Given the description of an element on the screen output the (x, y) to click on. 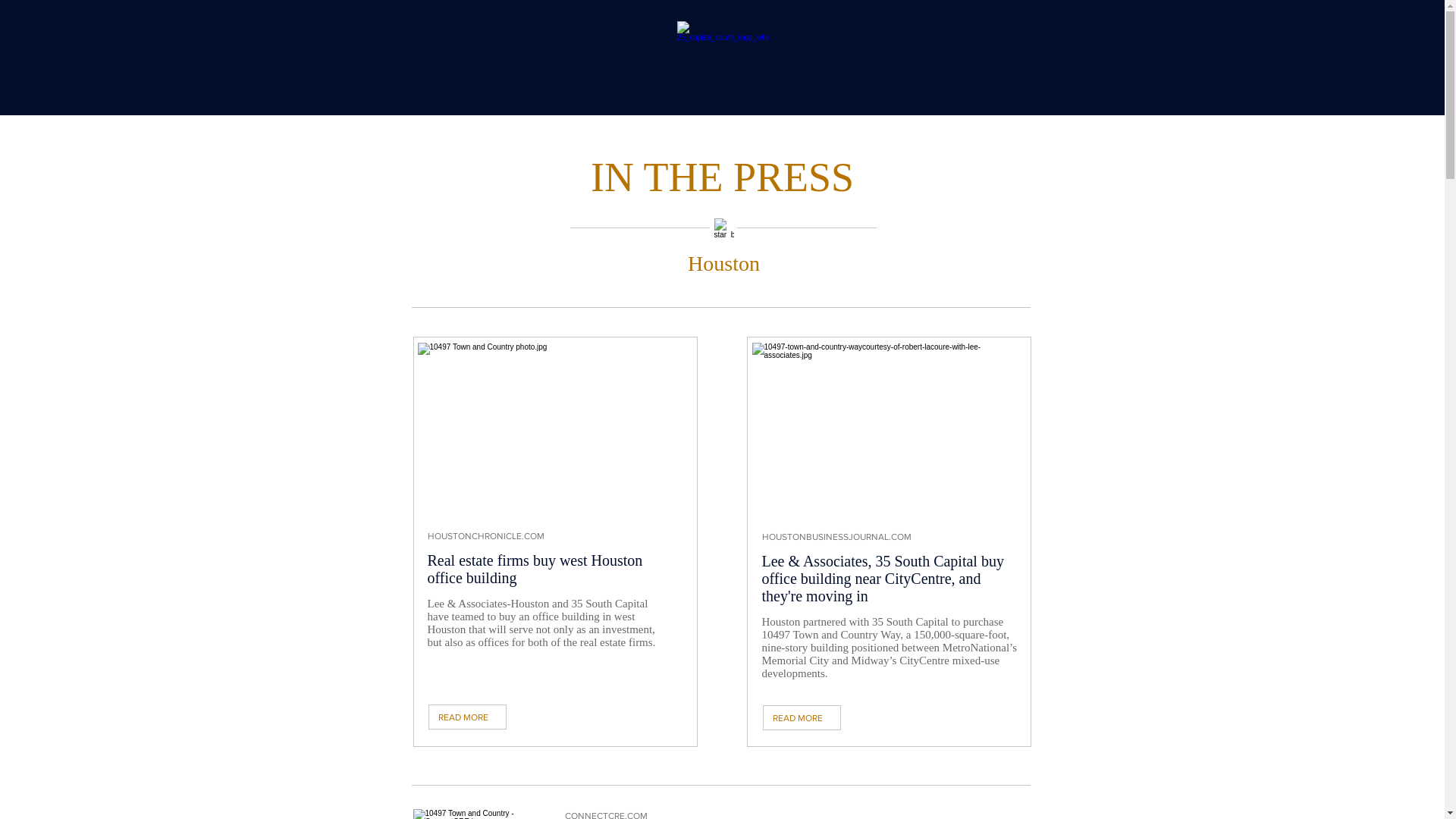
READ MORE Element type: text (466, 716)
READ MORE Element type: text (801, 717)
